Given the description of an element on the screen output the (x, y) to click on. 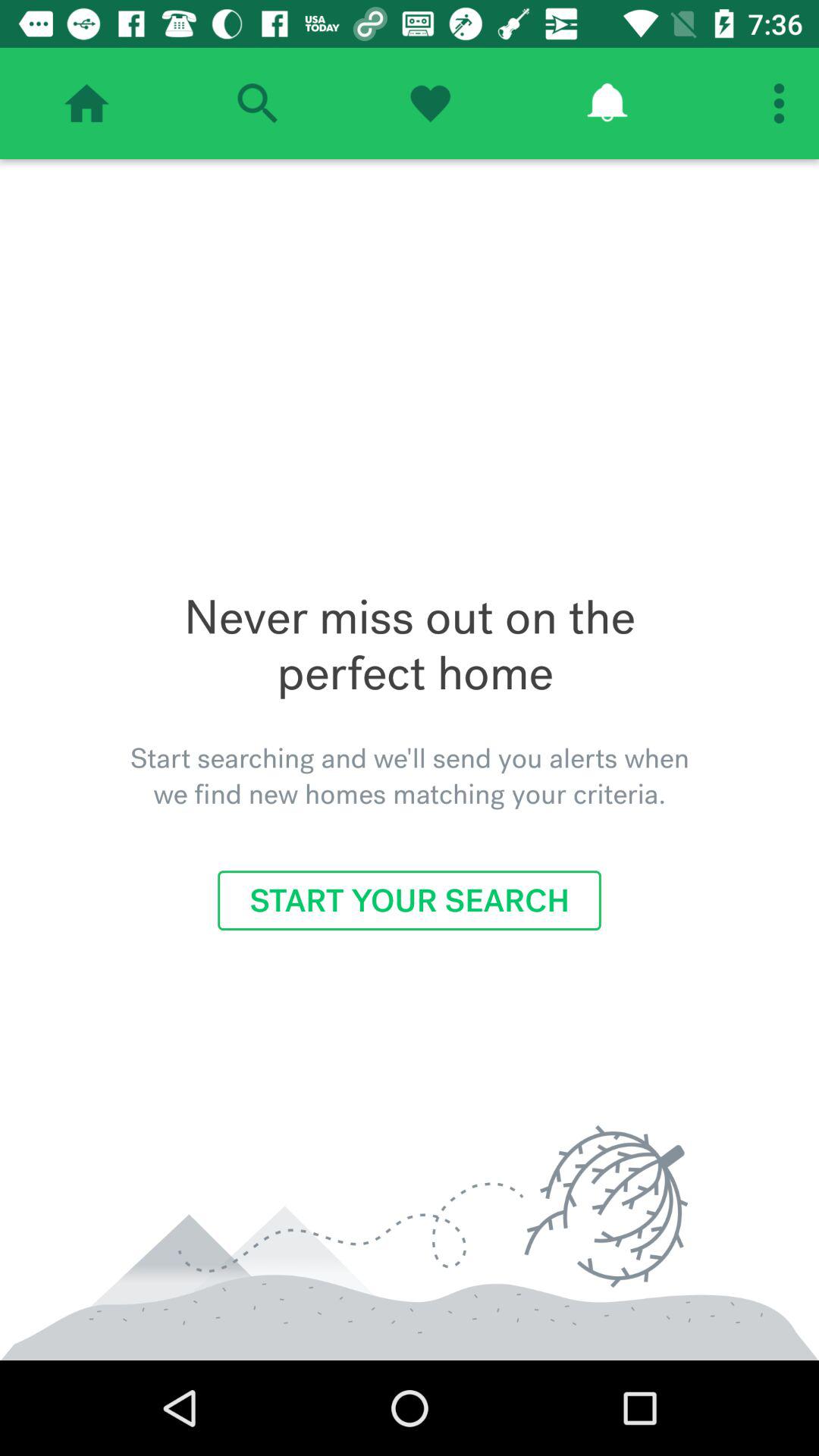
like option (429, 103)
